Given the description of an element on the screen output the (x, y) to click on. 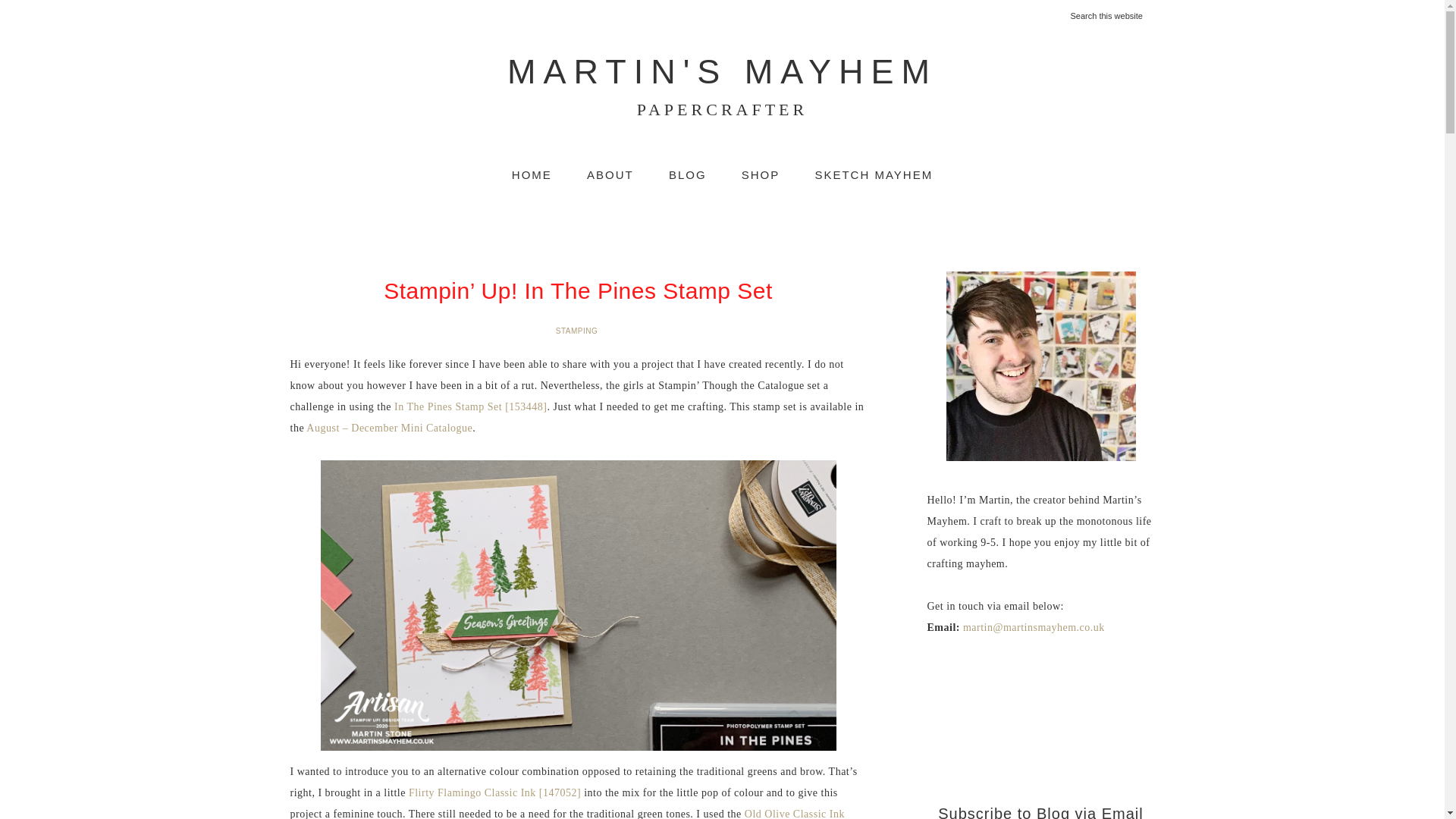
SKETCH MAYHEM (873, 174)
SHOP (760, 174)
STAMPING (578, 330)
BLOG (721, 85)
ABOUT (687, 174)
HOME (610, 174)
